Given the description of an element on the screen output the (x, y) to click on. 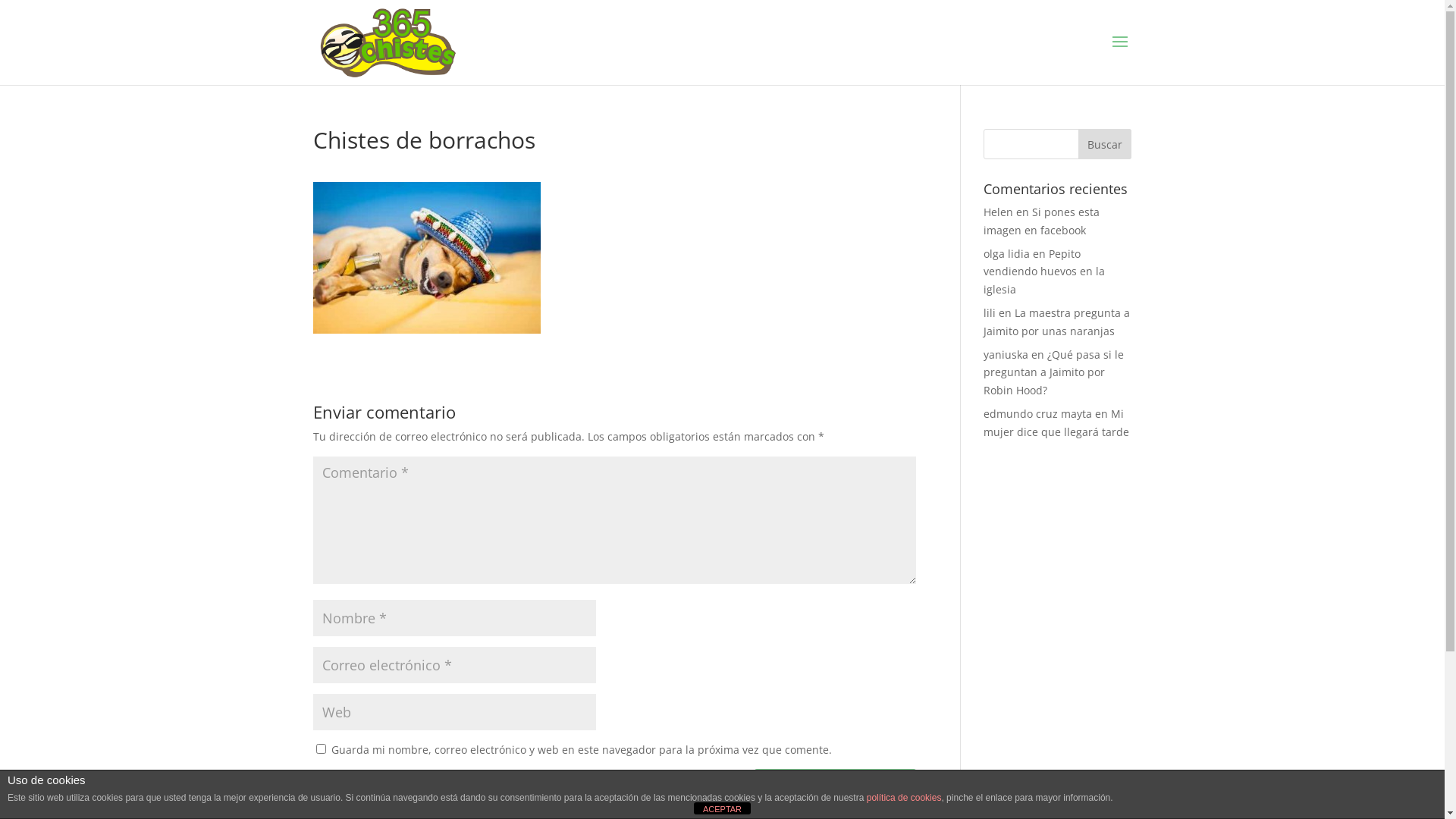
La maestra pregunta a Jaimito por unas naranjas Element type: text (1056, 321)
Pepito vendiendo huevos en la iglesia Element type: text (1043, 271)
ACEPTAR Element type: text (721, 808)
edmundo cruz mayta Element type: text (1037, 413)
Enviar comentario Element type: text (835, 787)
Buscar Element type: text (1104, 143)
lili Element type: text (989, 312)
Si pones esta imagen en facebook Element type: text (1041, 220)
